Given the description of an element on the screen output the (x, y) to click on. 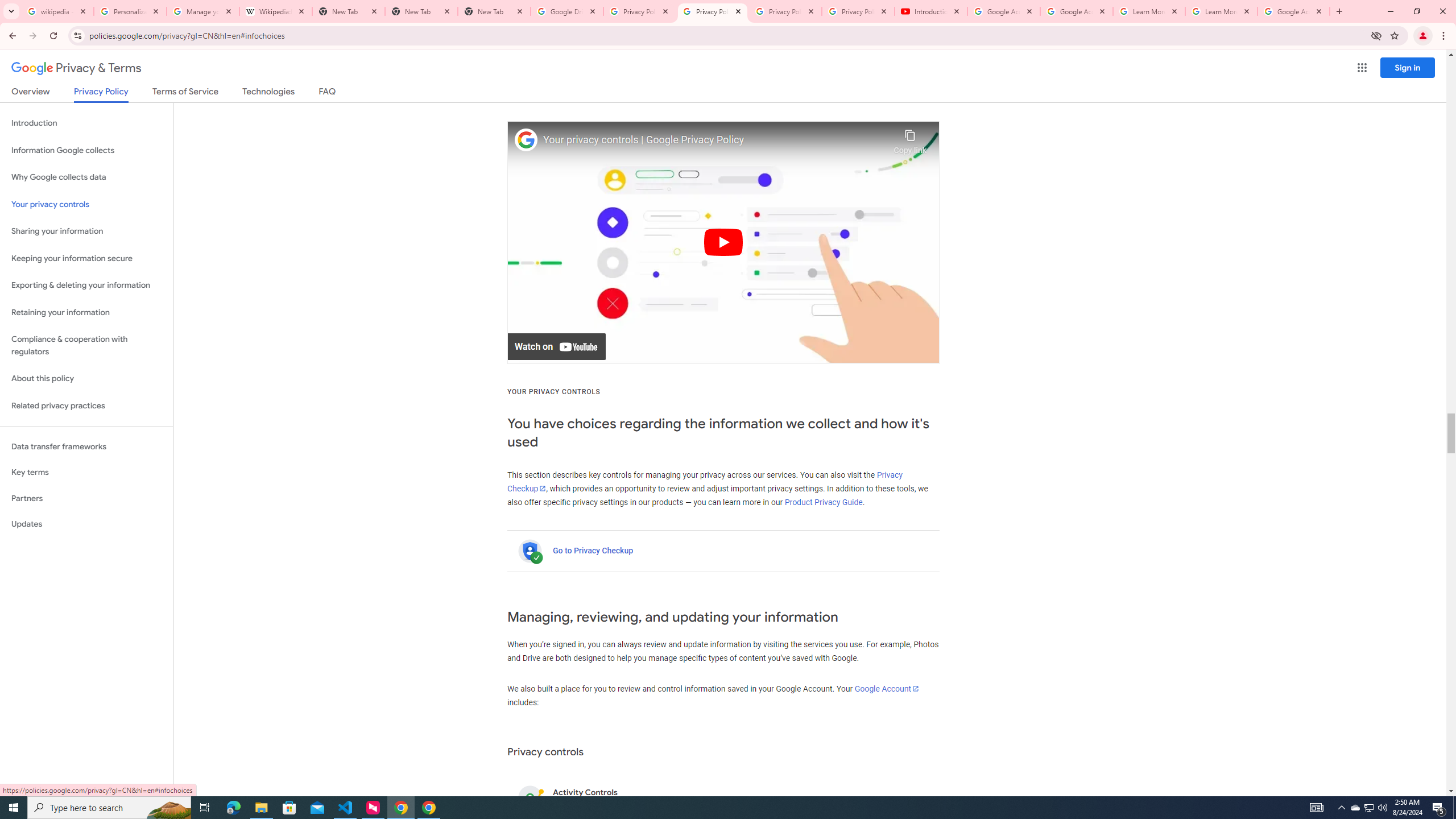
Go to Privacy Checkup (593, 550)
Copy link (909, 139)
Overview (30, 93)
Product Privacy Guide (823, 501)
Updates (86, 524)
Photo image of Google (526, 139)
Your privacy controls | Google Privacy Policy (715, 140)
Your privacy controls (86, 204)
New Tab (421, 11)
Data transfer frameworks (86, 446)
Privacy & Terms (76, 68)
